Given the description of an element on the screen output the (x, y) to click on. 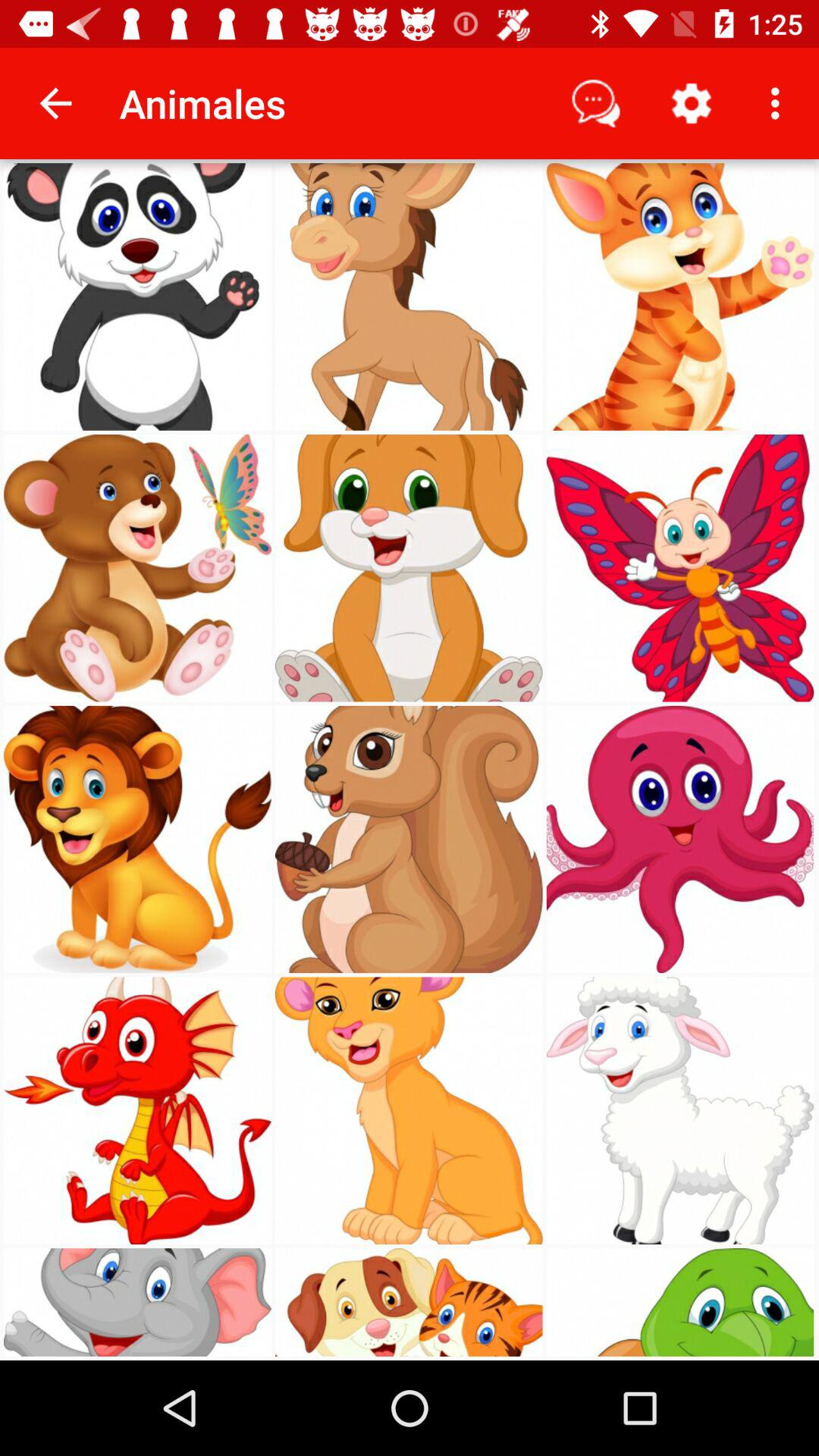
turn on the icon next to the animales icon (55, 103)
